Given the description of an element on the screen output the (x, y) to click on. 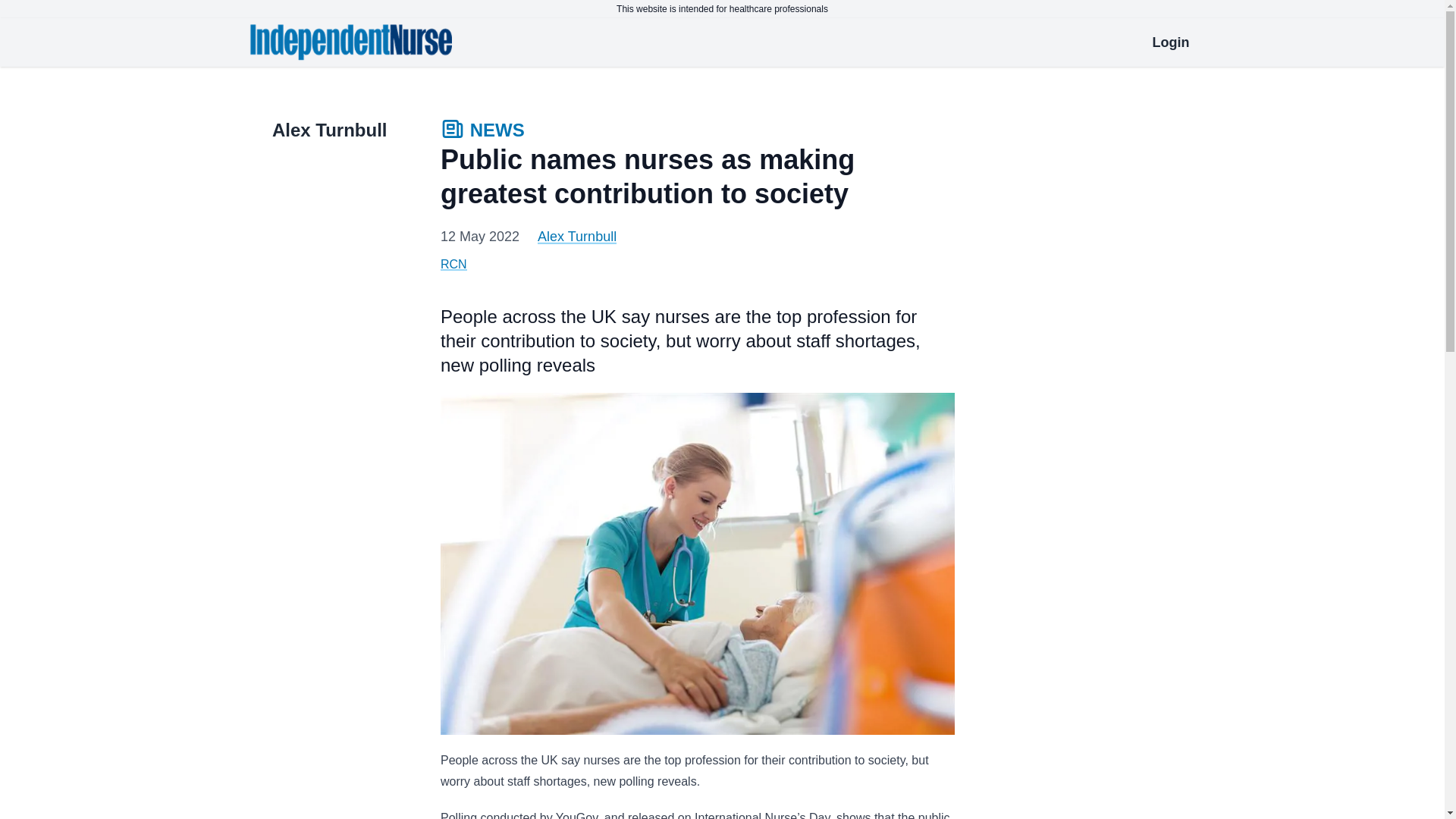
Alex Turnbull (576, 236)
NEWS (482, 132)
Login (1171, 41)
